Given the description of an element on the screen output the (x, y) to click on. 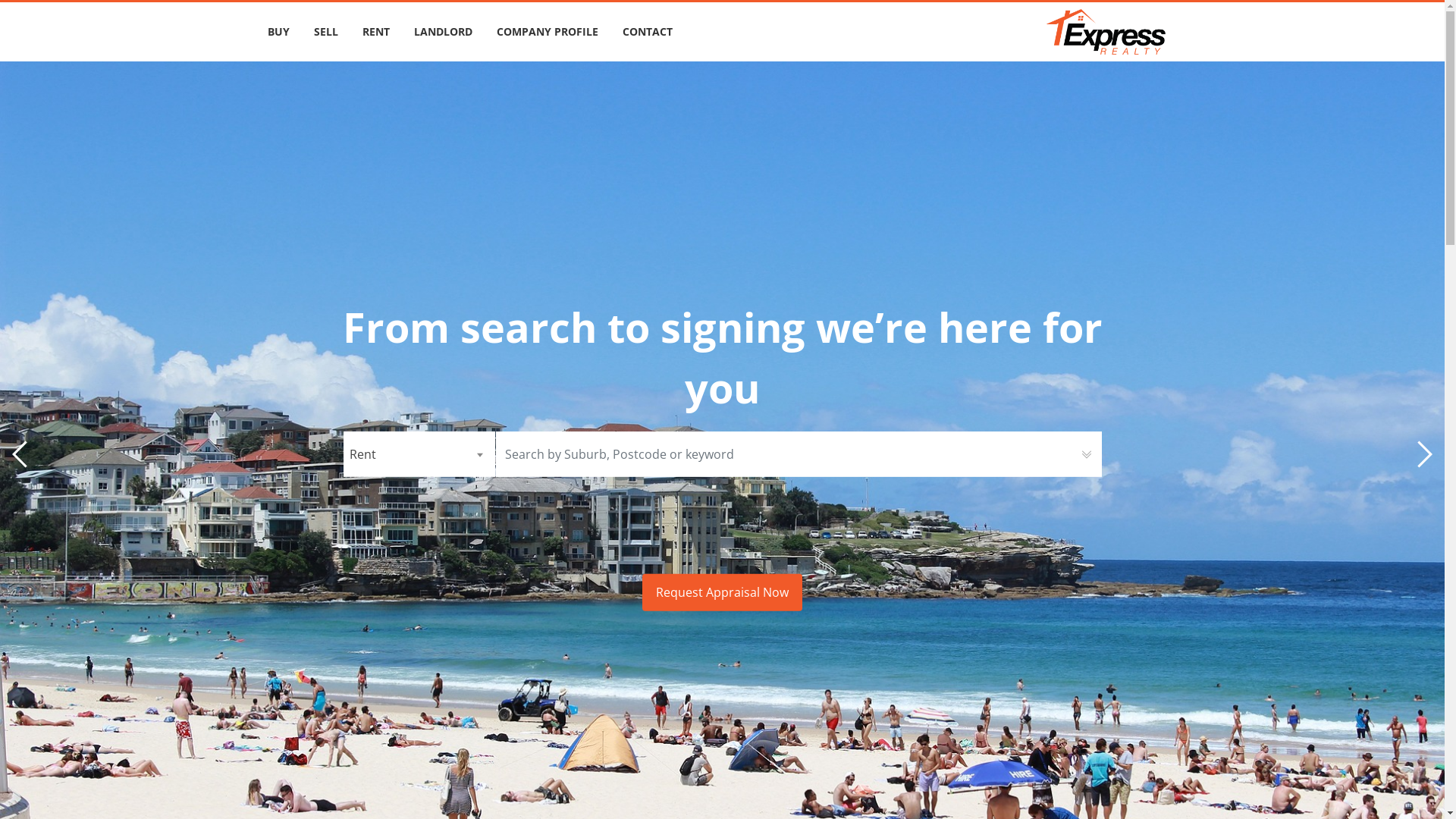
BUY Element type: text (277, 31)
Request Appraisal Now Element type: text (722, 592)
CONTACT Element type: text (646, 31)
COMPANY PROFILE Element type: text (546, 31)
RENT Element type: text (375, 31)
SELL Element type: text (325, 31)
LANDLORD Element type: text (443, 31)
